Given the description of an element on the screen output the (x, y) to click on. 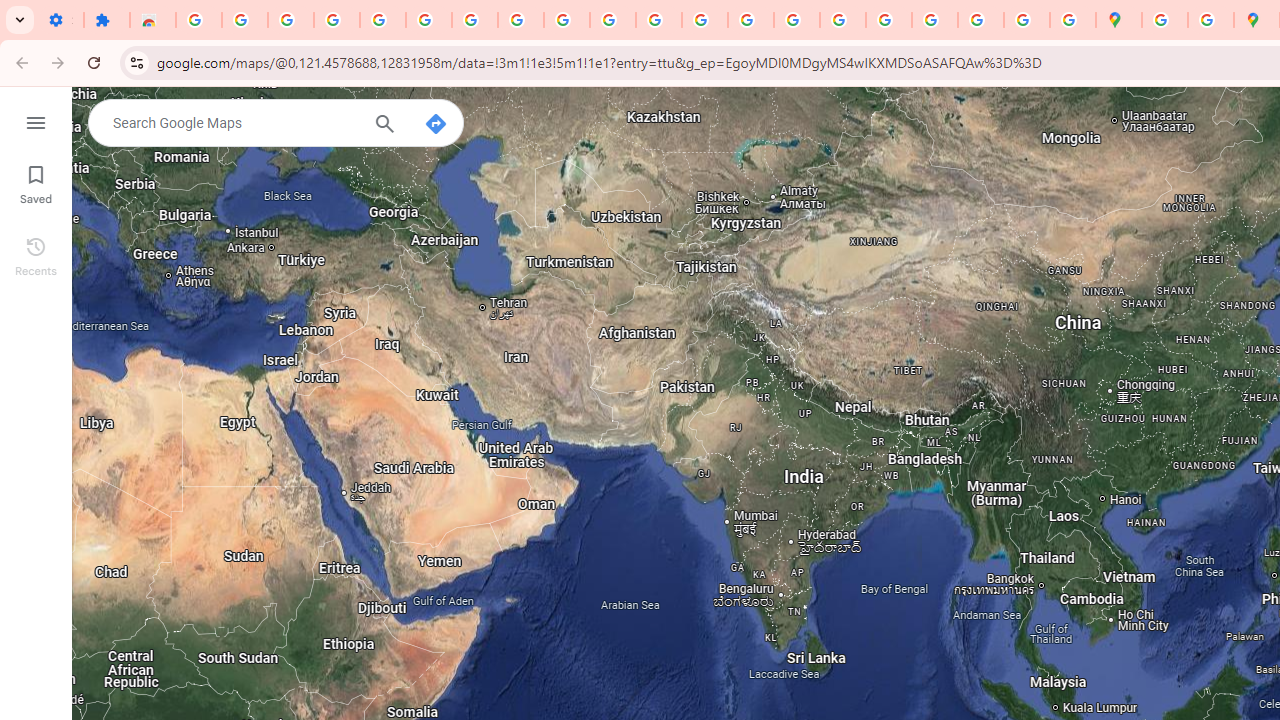
Privacy Help Center - Policies Help (797, 20)
Sign in - Google Accounts (198, 20)
Google Account Help (474, 20)
https://scholar.google.com/ (705, 20)
Saved (35, 182)
